Given the description of an element on the screen output the (x, y) to click on. 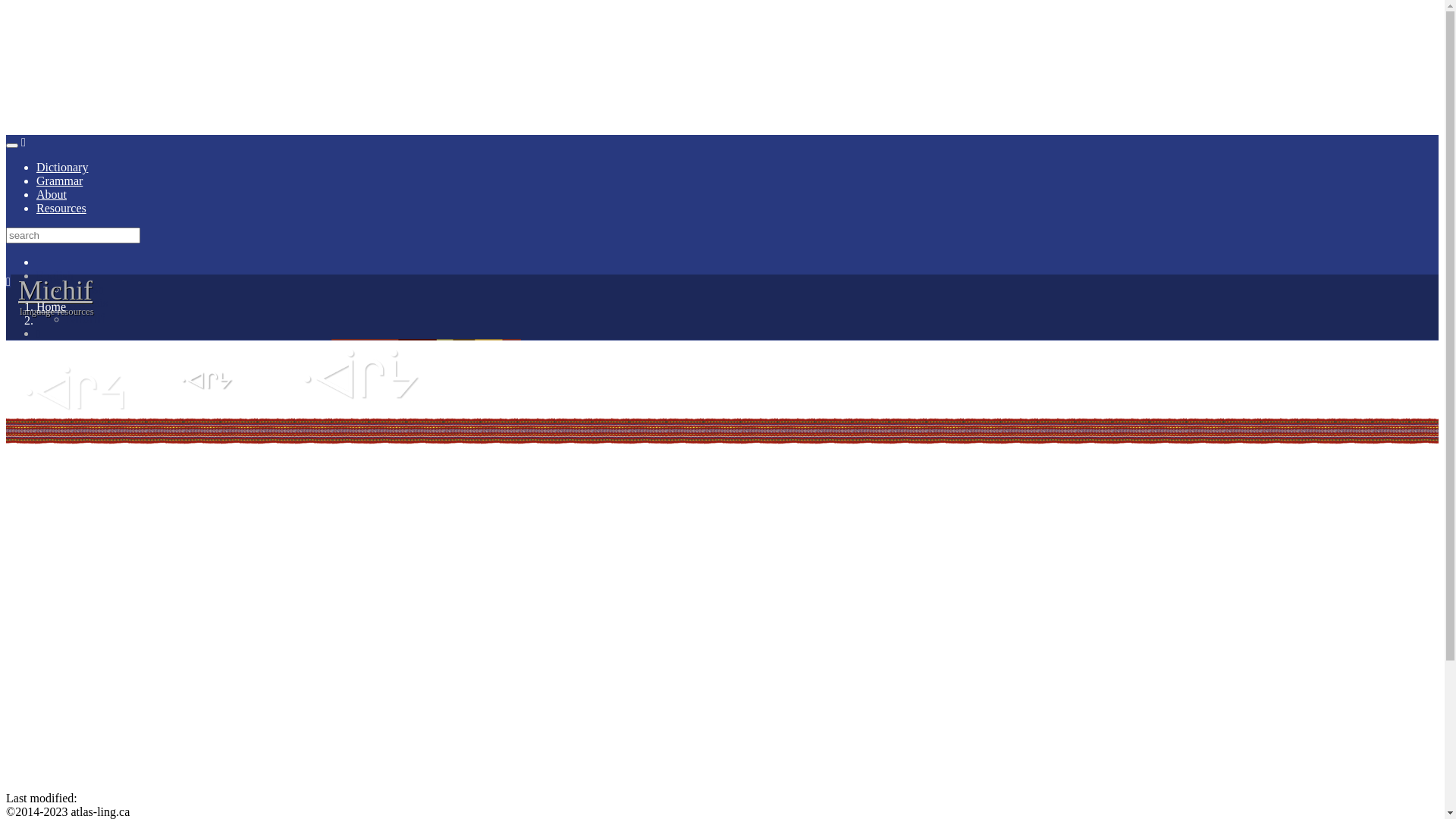
Home Element type: text (50, 306)
Dictionary Element type: text (61, 166)
Michif Element type: text (55, 290)
About Element type: text (51, 194)
Grammar Element type: text (59, 180)
English Element type: text (84, 288)
Michif Element type: text (85, 318)
0 Element type: text (737, 333)
Resources Element type: text (61, 207)
English Element type: text (54, 275)
